Given the description of an element on the screen output the (x, y) to click on. 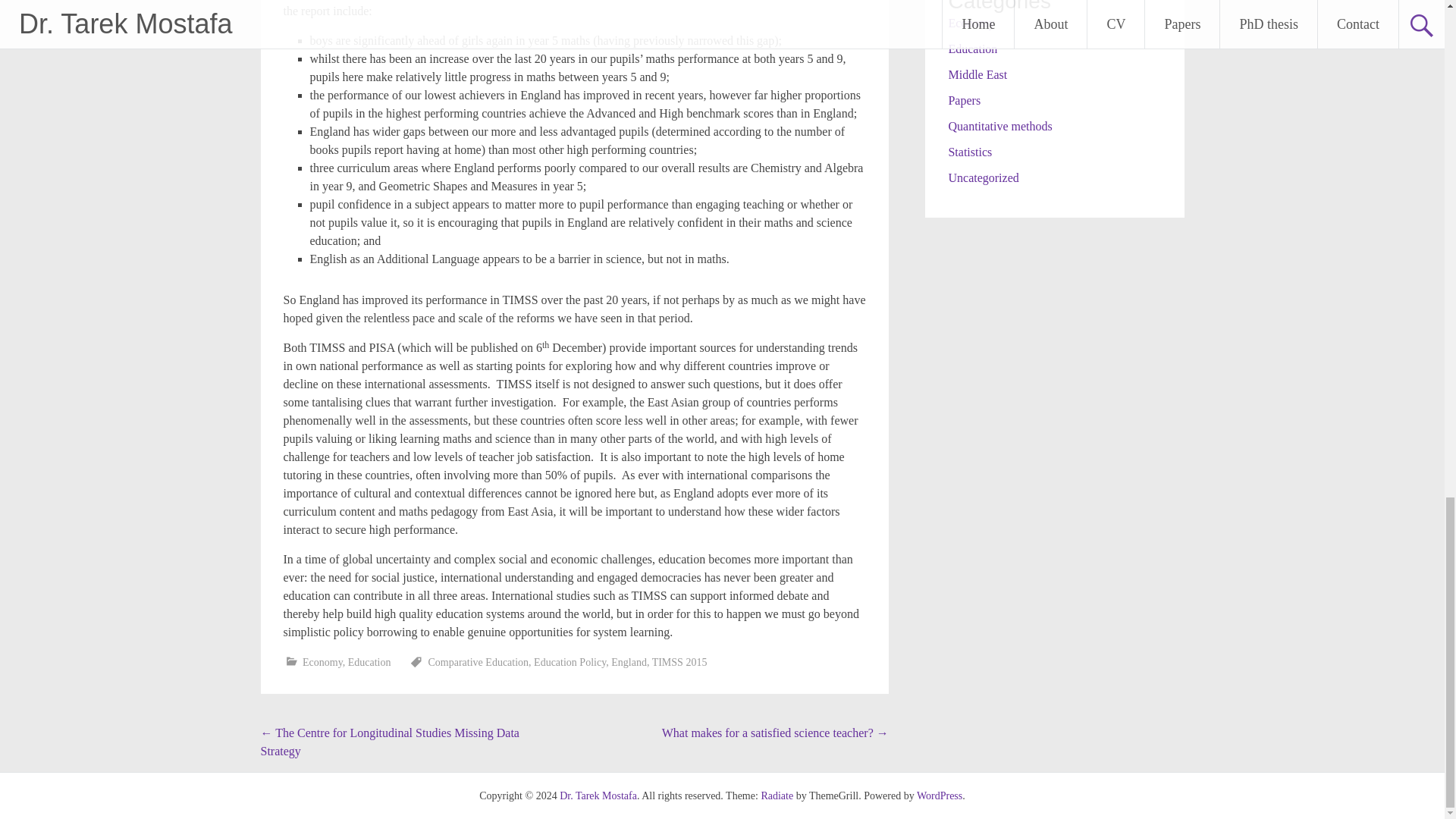
Economy (322, 662)
Comparative Education (478, 662)
Dr. Tarek Mostafa (598, 795)
Education (369, 662)
England (628, 662)
Education Policy (569, 662)
TIMSS 2015 (679, 662)
WordPress (939, 795)
Radiate (776, 795)
